Given the description of an element on the screen output the (x, y) to click on. 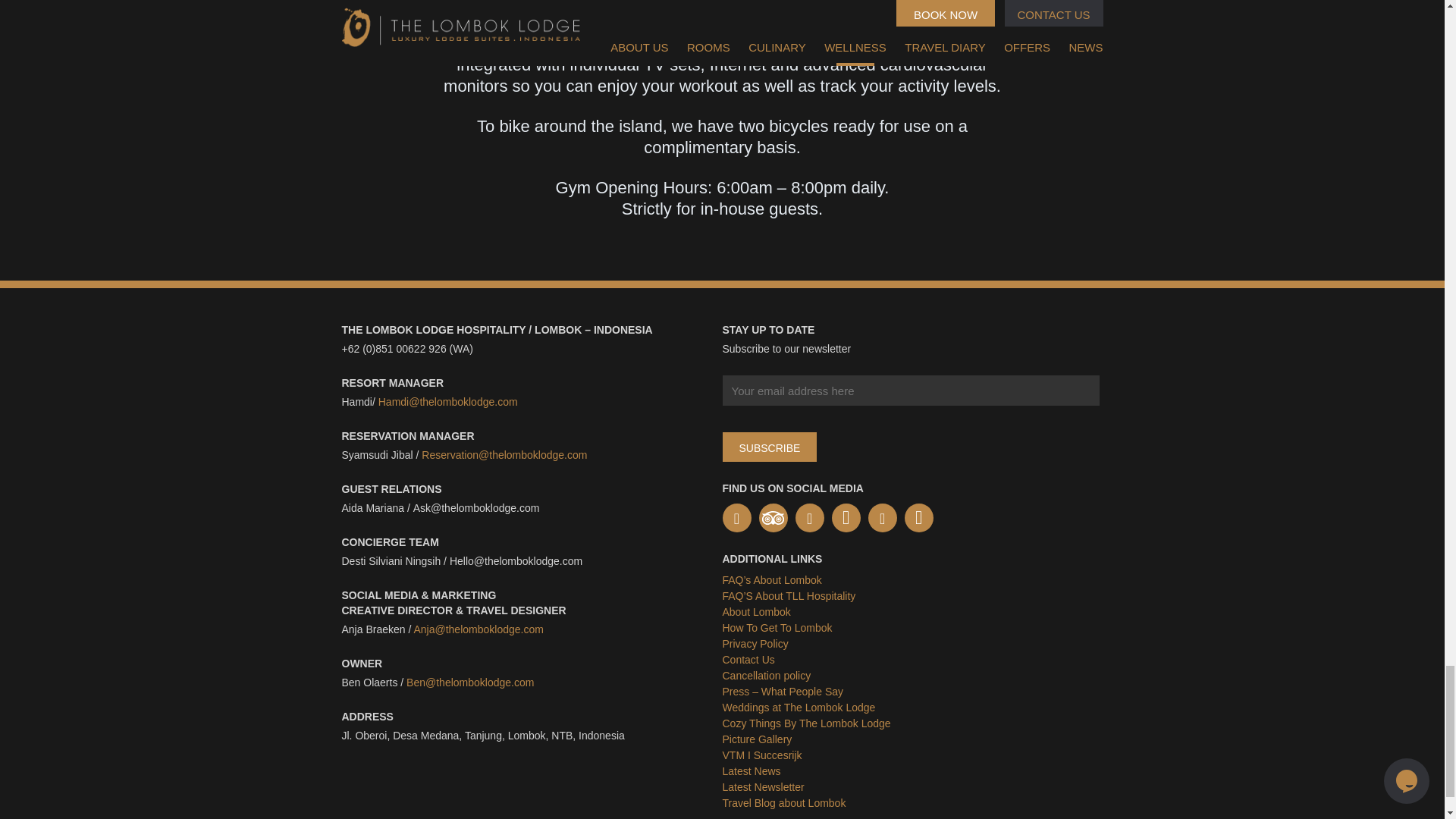
Facebook (736, 517)
How To Get To Lombok (776, 627)
B (409, 682)
Contact Us (748, 659)
YouTube (845, 517)
Privacy Policy (754, 644)
Subscribe (769, 446)
Pinterest (881, 517)
About Lombok (756, 612)
Tripadvisor (772, 517)
Subscribe (769, 446)
Instagram (918, 517)
Twitter (809, 517)
